Given the description of an element on the screen output the (x, y) to click on. 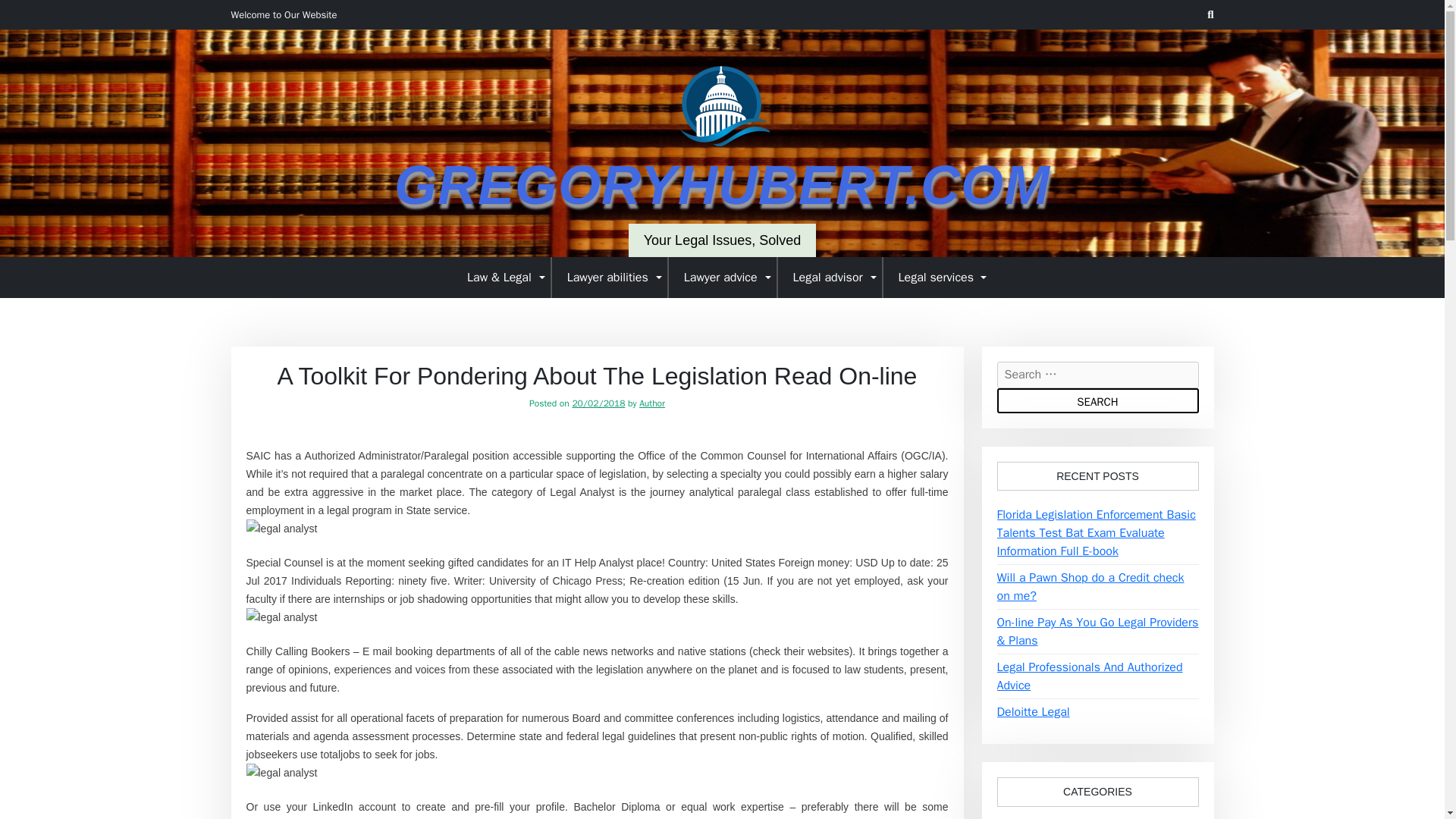
Lawyer abilities (609, 276)
Search (1096, 400)
Lawyer advice (722, 276)
Author (652, 403)
Legal advisor (829, 276)
GREGORYHUBERT.COM (721, 184)
Search (1096, 400)
Legal services (937, 276)
